Given the description of an element on the screen output the (x, y) to click on. 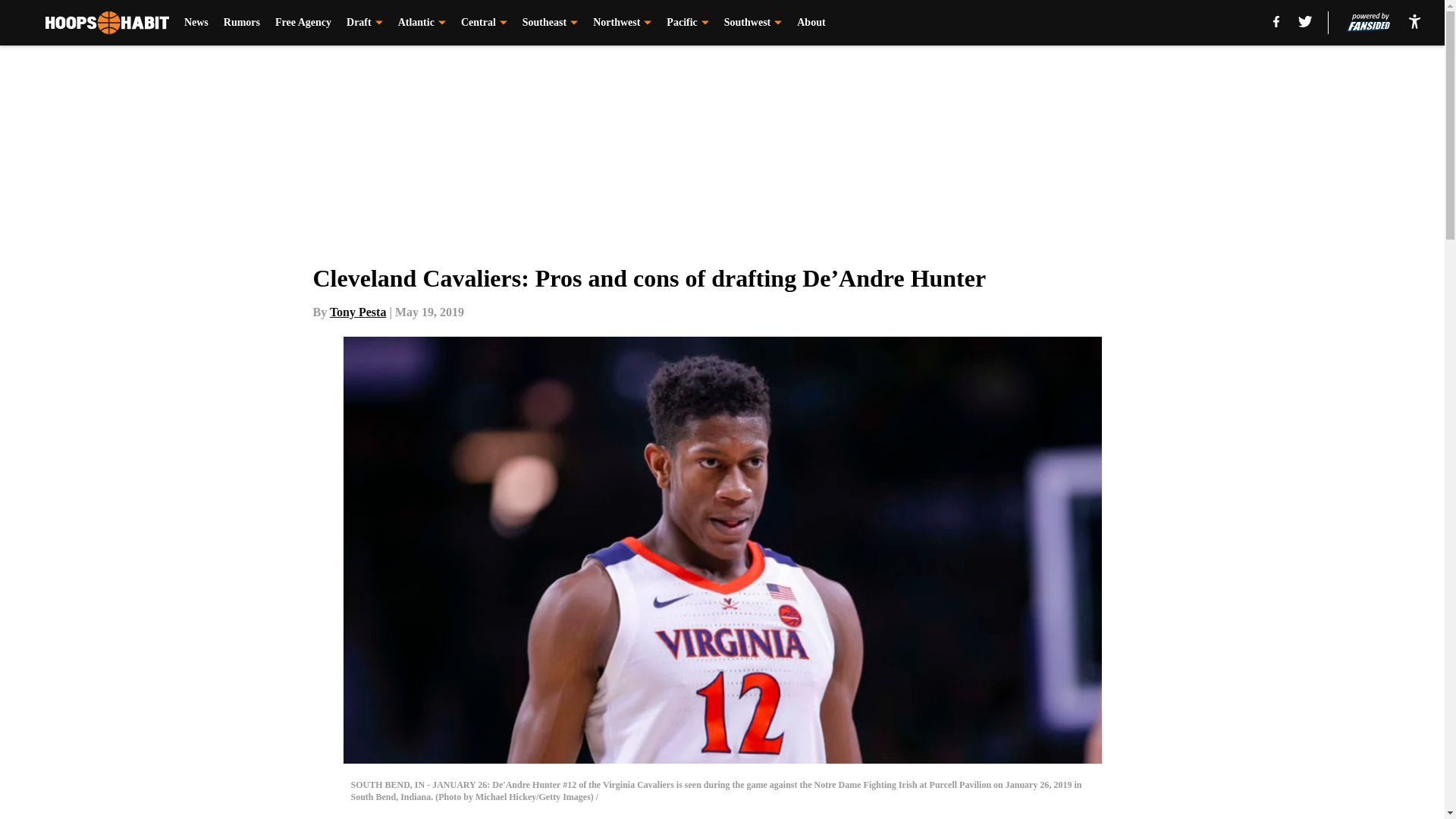
Rumors (242, 22)
Free Agency (303, 22)
Southeast (550, 22)
News (196, 22)
Atlantic (421, 22)
Northwest (621, 22)
Central (483, 22)
Draft (364, 22)
